Given the description of an element on the screen output the (x, y) to click on. 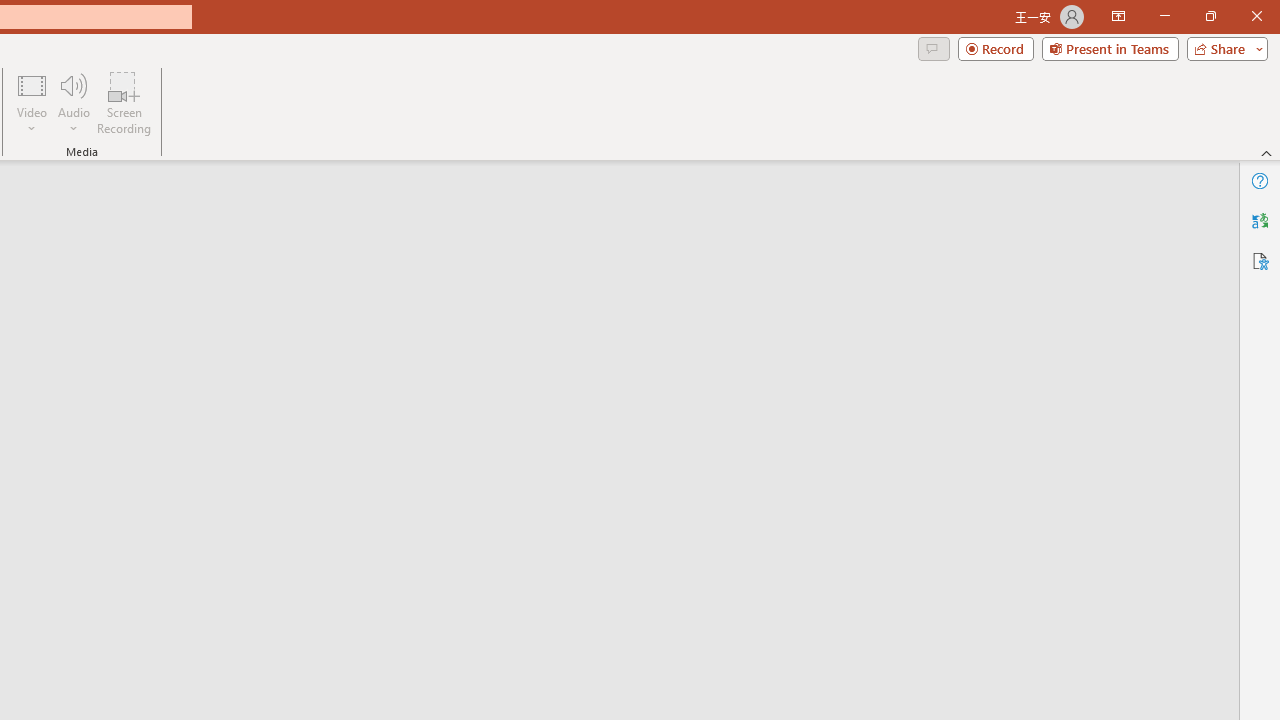
Audio (73, 102)
Video (31, 102)
Screen Recording... (123, 102)
